Given the description of an element on the screen output the (x, y) to click on. 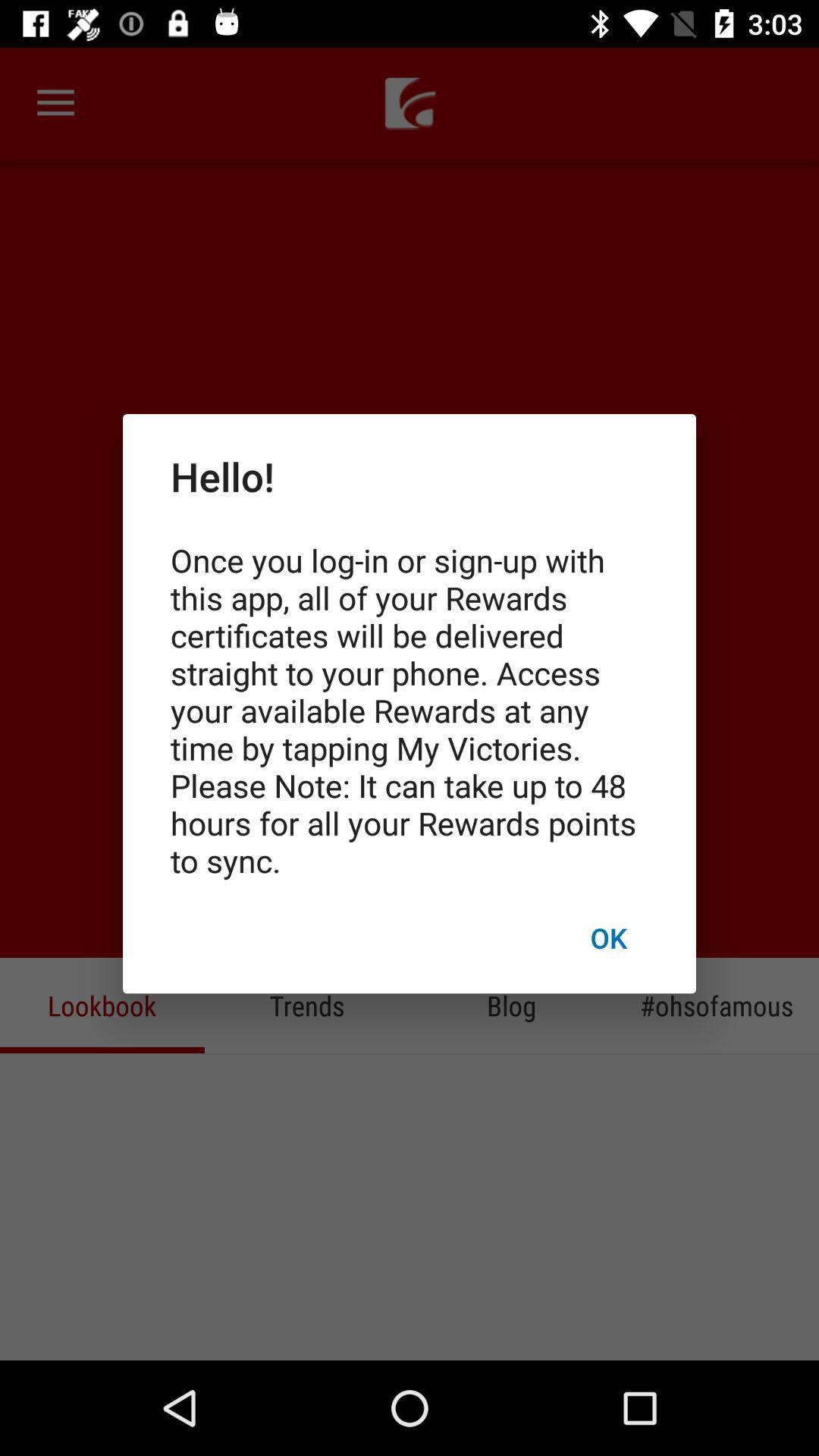
launch icon below the once you log (608, 937)
